Given the description of an element on the screen output the (x, y) to click on. 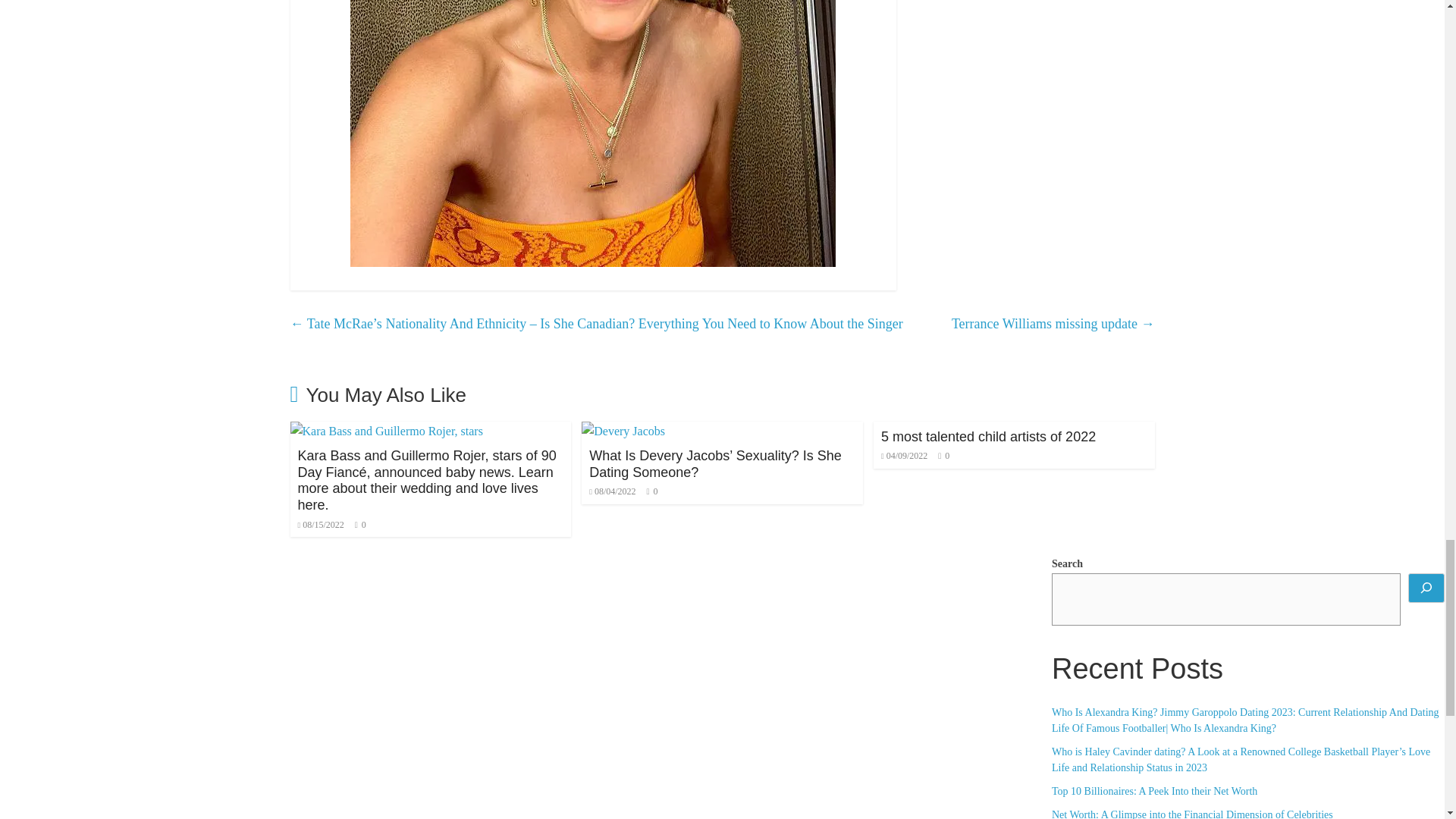
5 most talented child artists of 2022 (988, 436)
Top 10 Billionaires: A Peek Into their Net Worth (1154, 790)
10:41 am (903, 455)
5 most talented child artists of 2022 (988, 436)
6:22 pm (611, 491)
4:20 pm (320, 524)
